Given the description of an element on the screen output the (x, y) to click on. 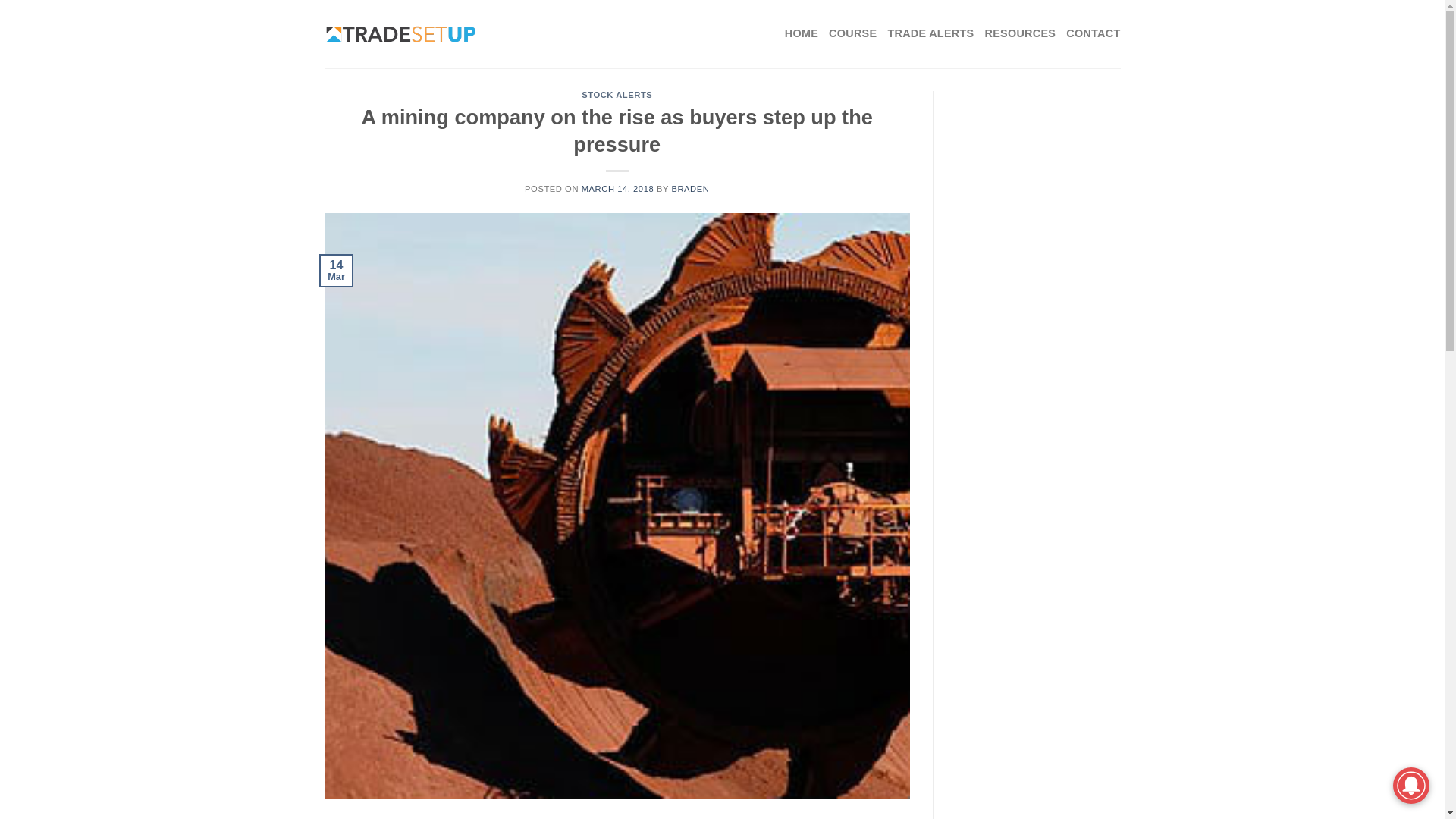
MARCH 14, 2018 (616, 188)
HOME (801, 33)
TRADE ALERTS (930, 33)
STOCK ALERTS (616, 94)
TradeSetup - Australia's leading Trade Alert Service (400, 34)
CONTACT (1092, 33)
BRADEN (690, 188)
COURSE (852, 33)
RESOURCES (1019, 33)
